Given the description of an element on the screen output the (x, y) to click on. 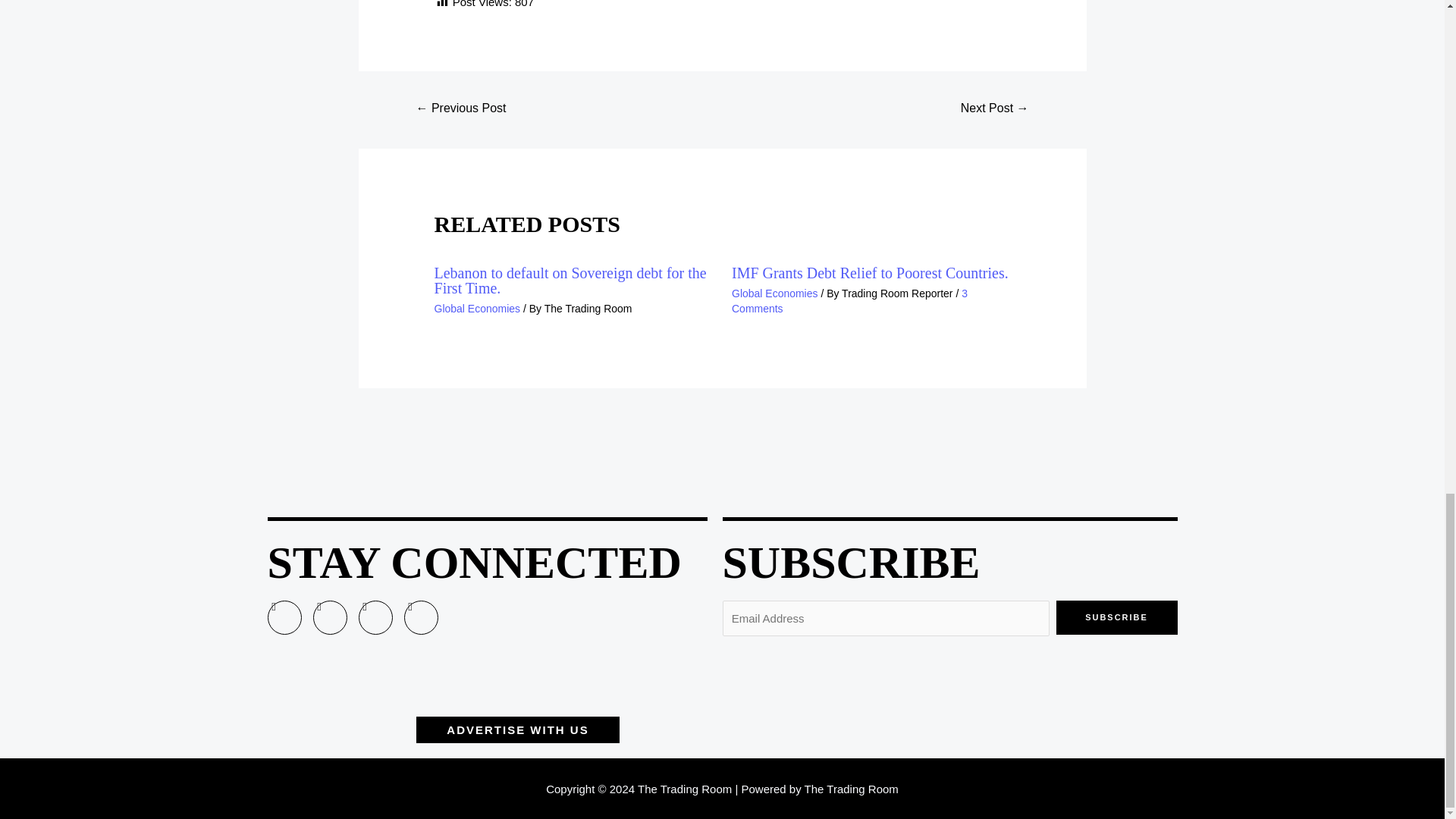
Global Economies (477, 308)
Global Economies (775, 293)
Trading Room Reporter (898, 293)
The Trading Room (587, 308)
View all posts by The Trading Room (587, 308)
3 Comments (850, 300)
IMF Grants Debt Relief to Poorest Countries. (870, 272)
Lebanon to default on Sovereign debt for the First Time. (569, 280)
View all posts by Trading Room Reporter (898, 293)
